Given the description of an element on the screen output the (x, y) to click on. 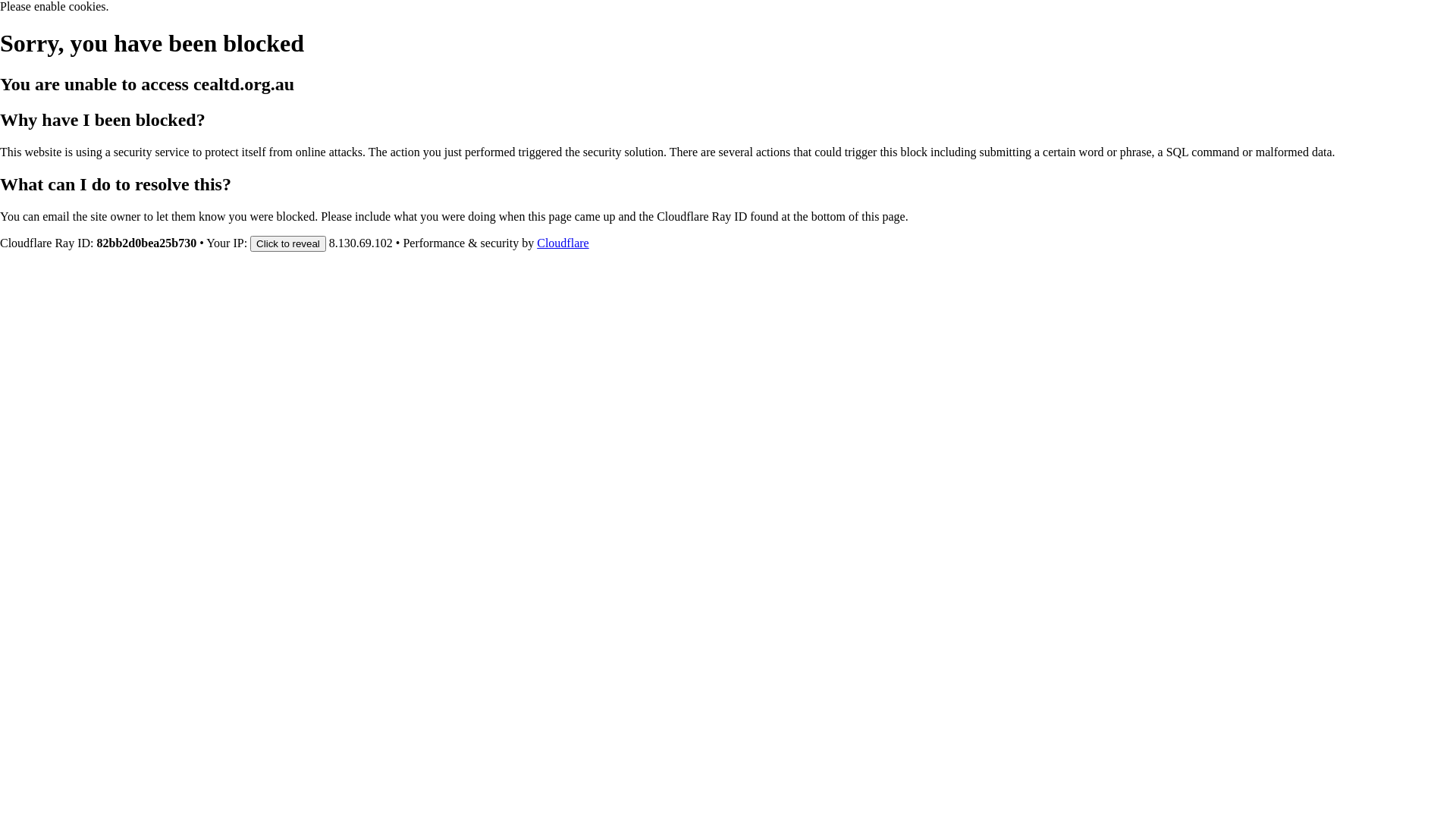
Click to reveal Element type: text (288, 243)
Cloudflare Element type: text (562, 242)
